Given the description of an element on the screen output the (x, y) to click on. 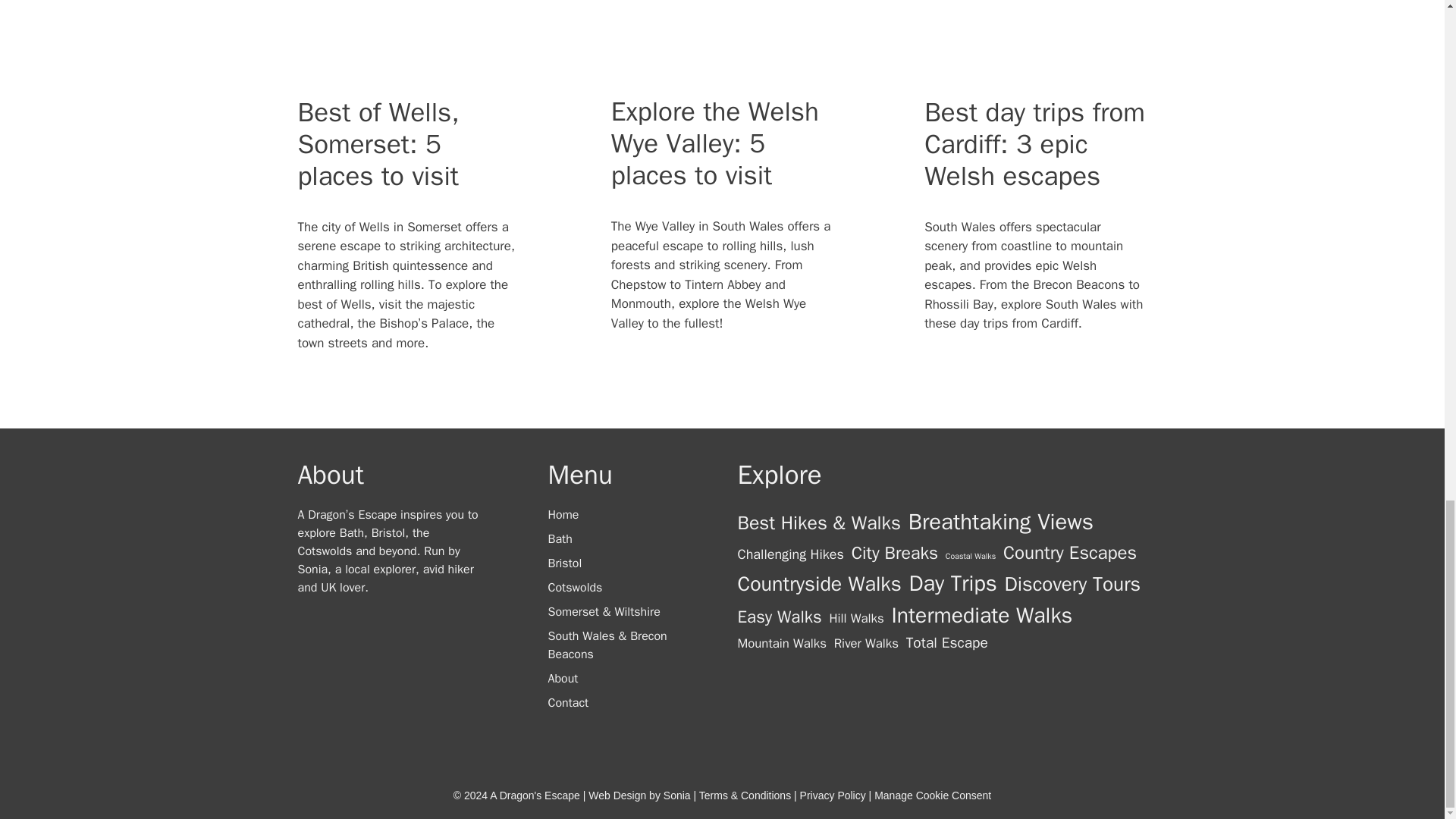
Explore the Welsh Wye Valley: 5 places to visit (714, 143)
Scroll back to top (1406, 159)
Best of Wells, Somerset: 5 places to visit (377, 143)
Best day trips from Cardiff: 3 epic Welsh escapes (1034, 143)
